Given the description of an element on the screen output the (x, y) to click on. 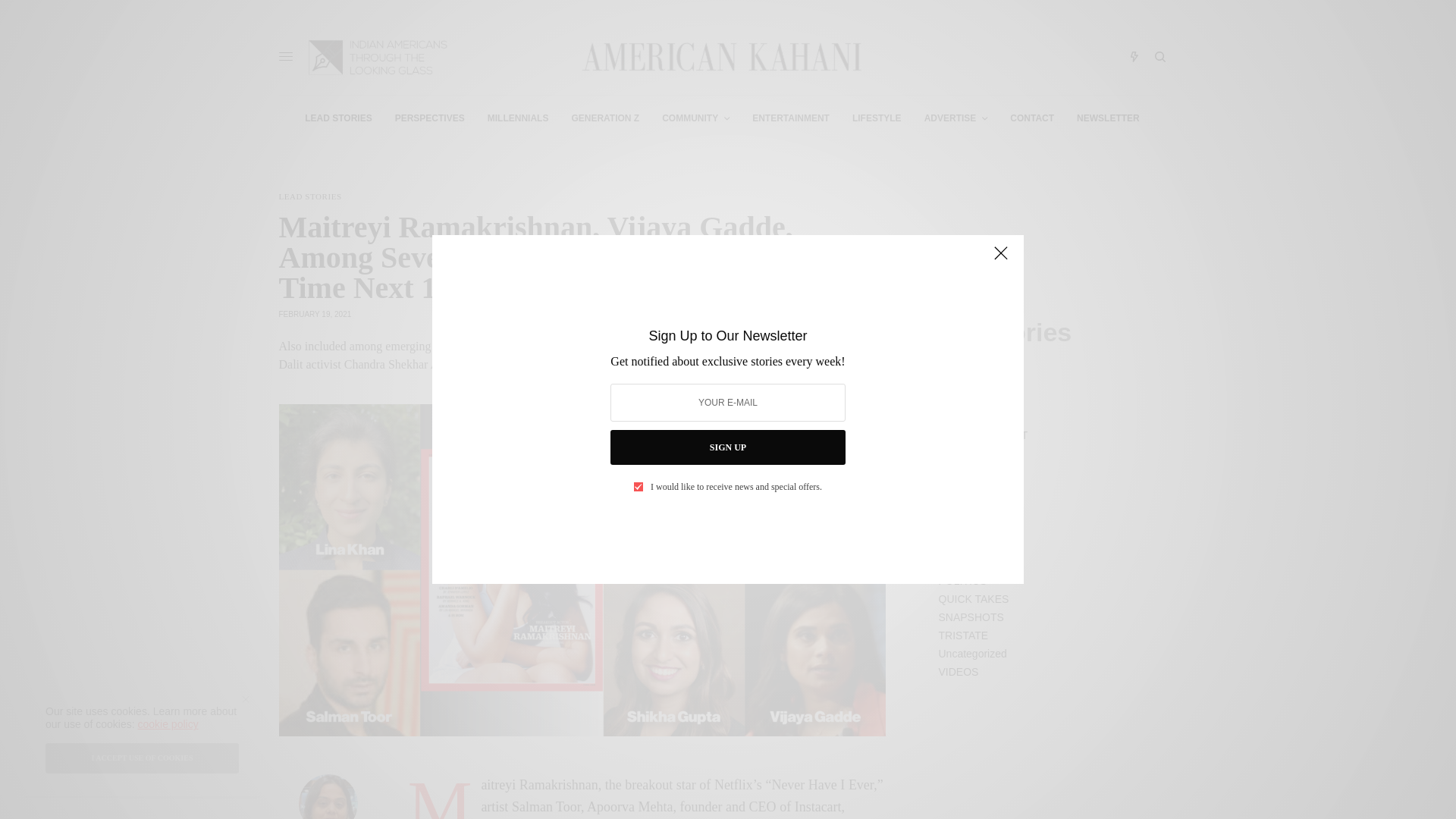
MILLENNIALS (517, 117)
ADVERTISE (956, 117)
GENERATION Z (604, 117)
American Kahani (720, 56)
COMMUNITY (695, 117)
ENTERTAINMENT (790, 117)
LEAD STORIES (310, 196)
LIFESTYLE (876, 117)
SIGN UP (727, 447)
LEAD STORIES (337, 117)
PERSPECTIVES (429, 117)
CONTACT (1032, 117)
NEWSLETTER (1108, 117)
